Given the description of an element on the screen output the (x, y) to click on. 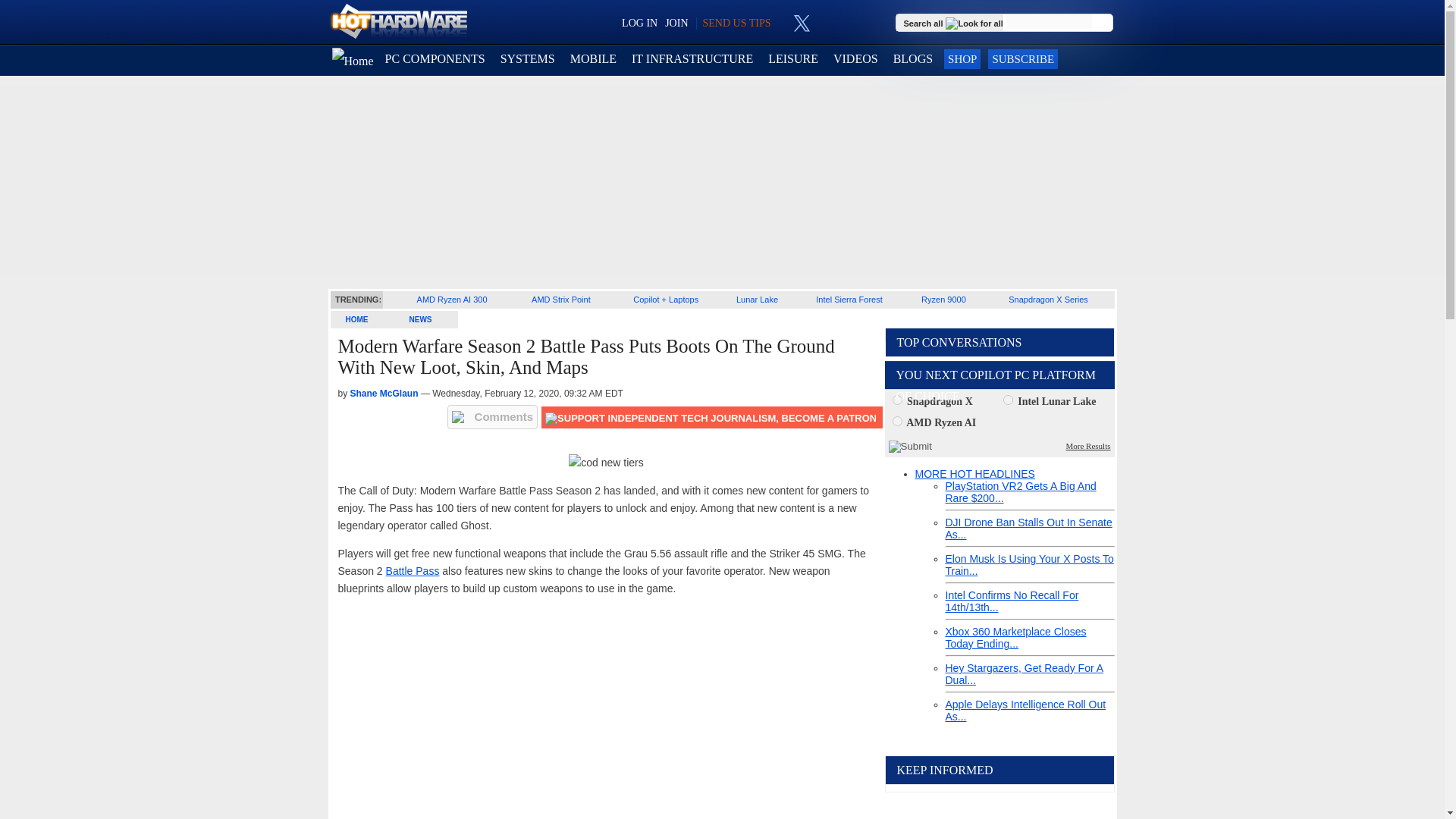
757 (896, 399)
Search all (955, 22)
SEND US TIPS (735, 22)
758 (1008, 399)
JOIN (676, 22)
LOG IN (639, 22)
Comments (492, 416)
Go (1103, 22)
Blogs (912, 58)
759 (896, 420)
Go (1103, 22)
Go (1103, 22)
PC COMPONENTS (435, 58)
SIGN OUT (39, 18)
keyword (1049, 21)
